Given the description of an element on the screen output the (x, y) to click on. 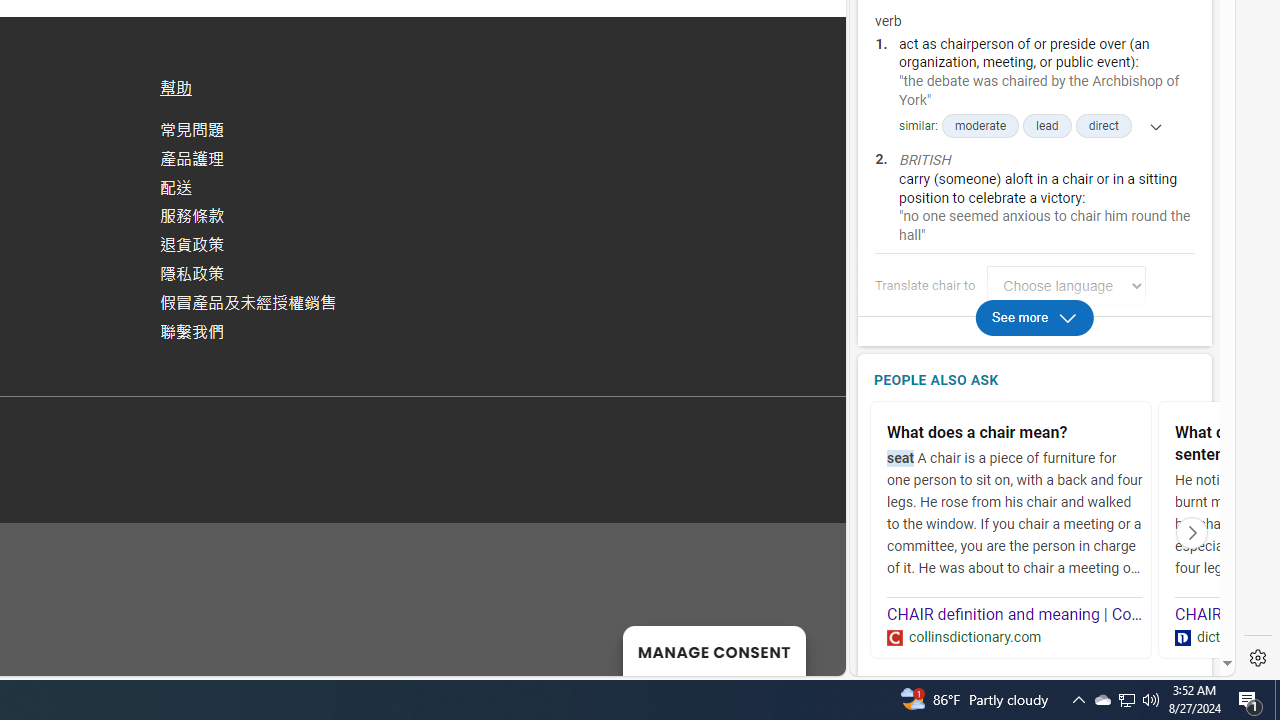
What does a chair mean? (1015, 433)
lead (1047, 125)
moderate (980, 125)
Go to top (804, 647)
MANAGE CONSENT (714, 650)
